Given the description of an element on the screen output the (x, y) to click on. 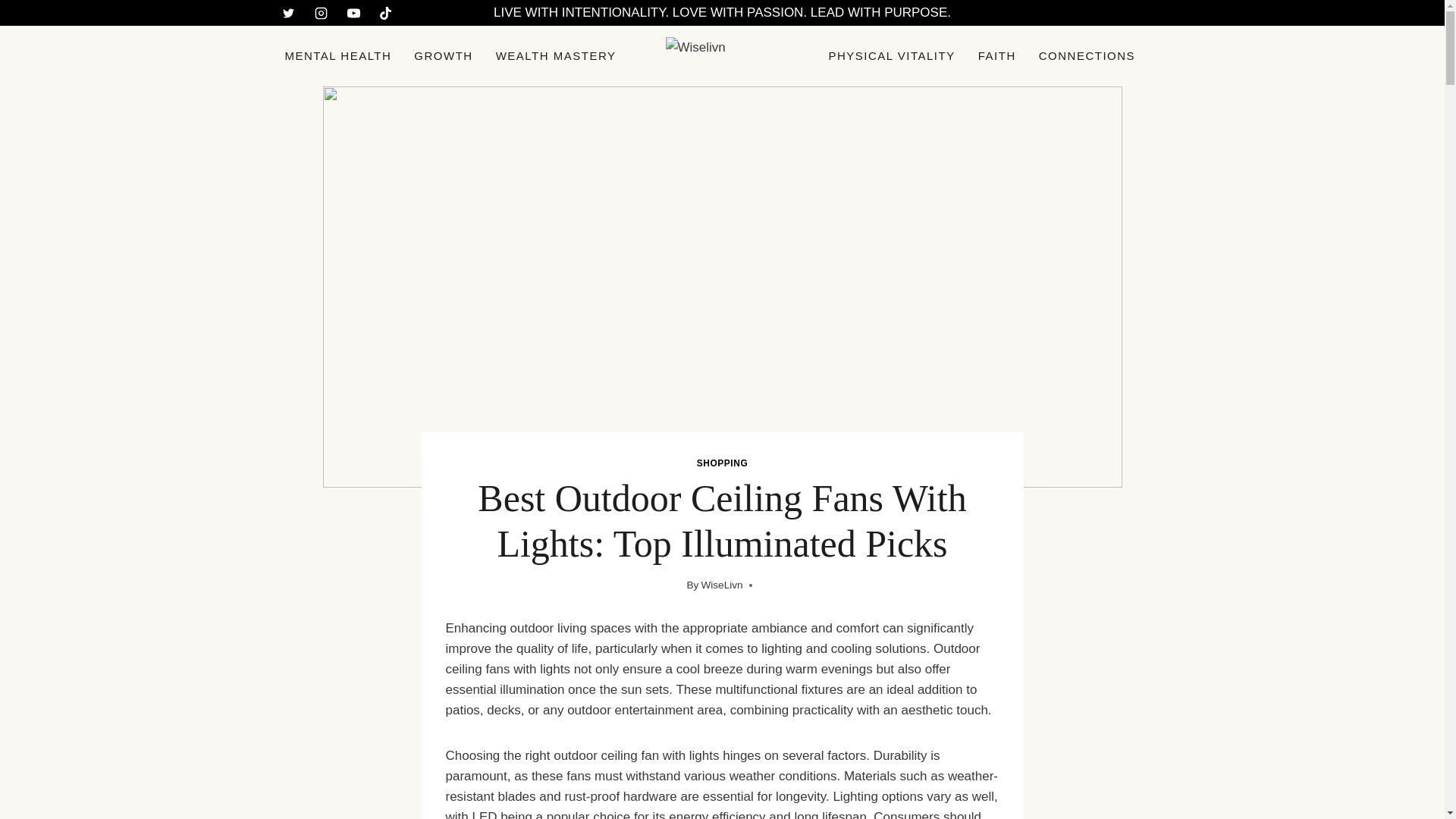
WiseLivn (721, 584)
GROWTH (443, 56)
WEALTH MASTERY (555, 56)
MENTAL HEALTH (338, 56)
PHYSICAL VITALITY (891, 56)
SHOPPING (722, 462)
CONNECTIONS (1087, 56)
FAITH (996, 56)
